Given the description of an element on the screen output the (x, y) to click on. 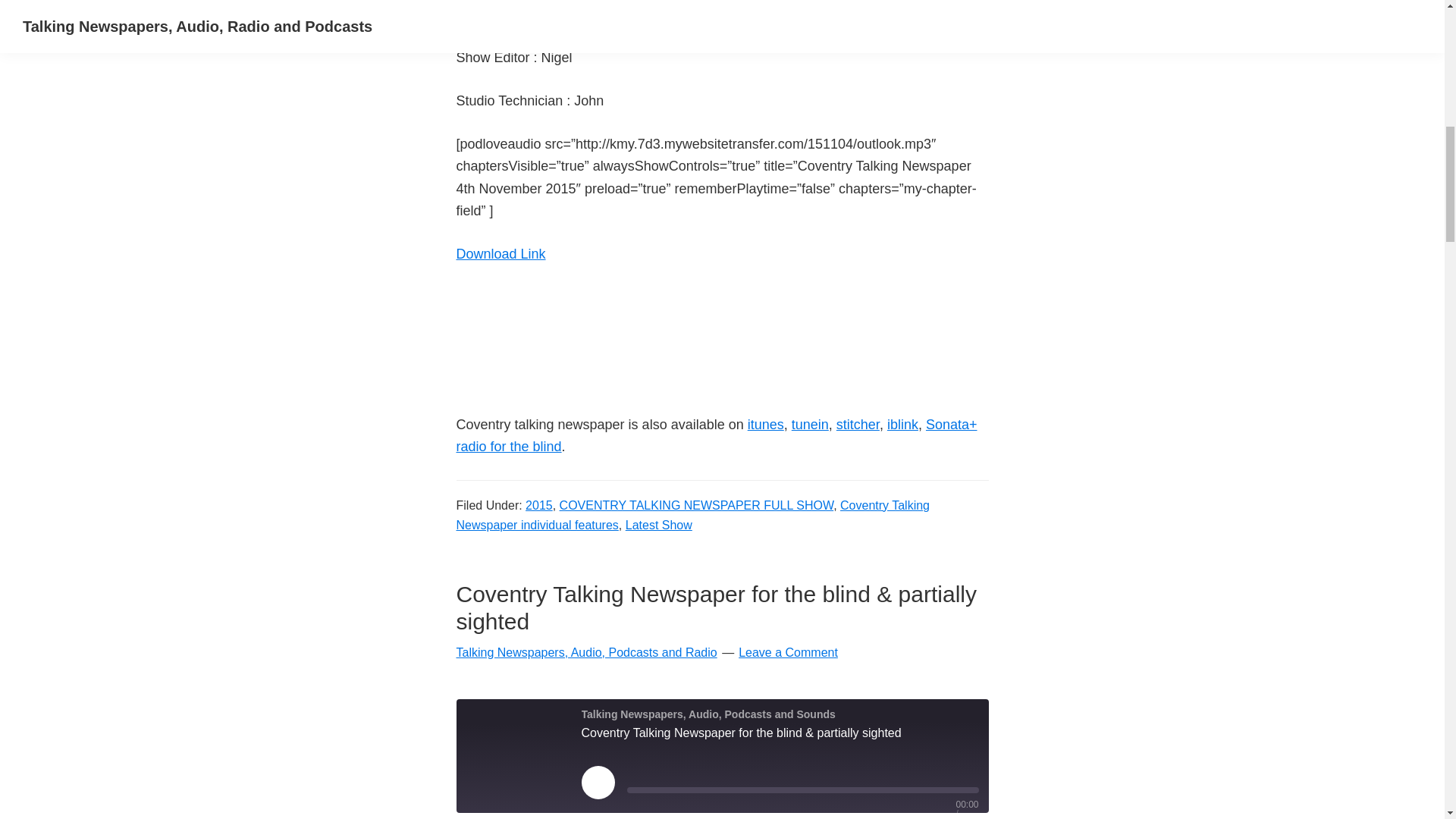
iblink (902, 424)
stitcher (857, 424)
tunein (810, 424)
Play Episode (597, 782)
Seek (802, 790)
Play (597, 782)
itunes (766, 424)
Leave a Comment (788, 652)
COVENTRY TALKING NEWSPAPER FULL SHOW (696, 504)
Talking Newspapers, Audio, Podcasts and Radio (587, 652)
